Given the description of an element on the screen output the (x, y) to click on. 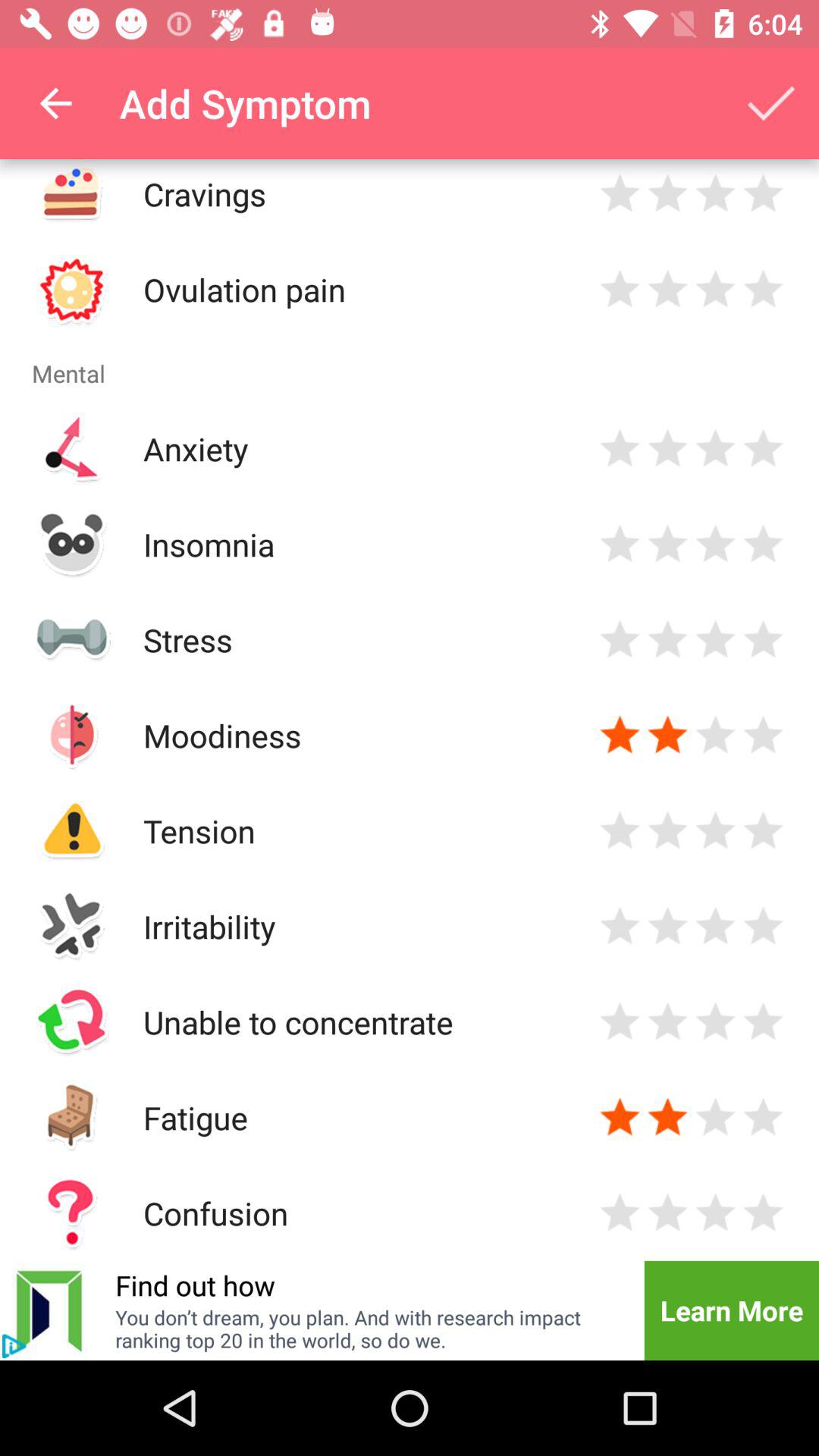
evaluate mental (667, 926)
